Given the description of an element on the screen output the (x, y) to click on. 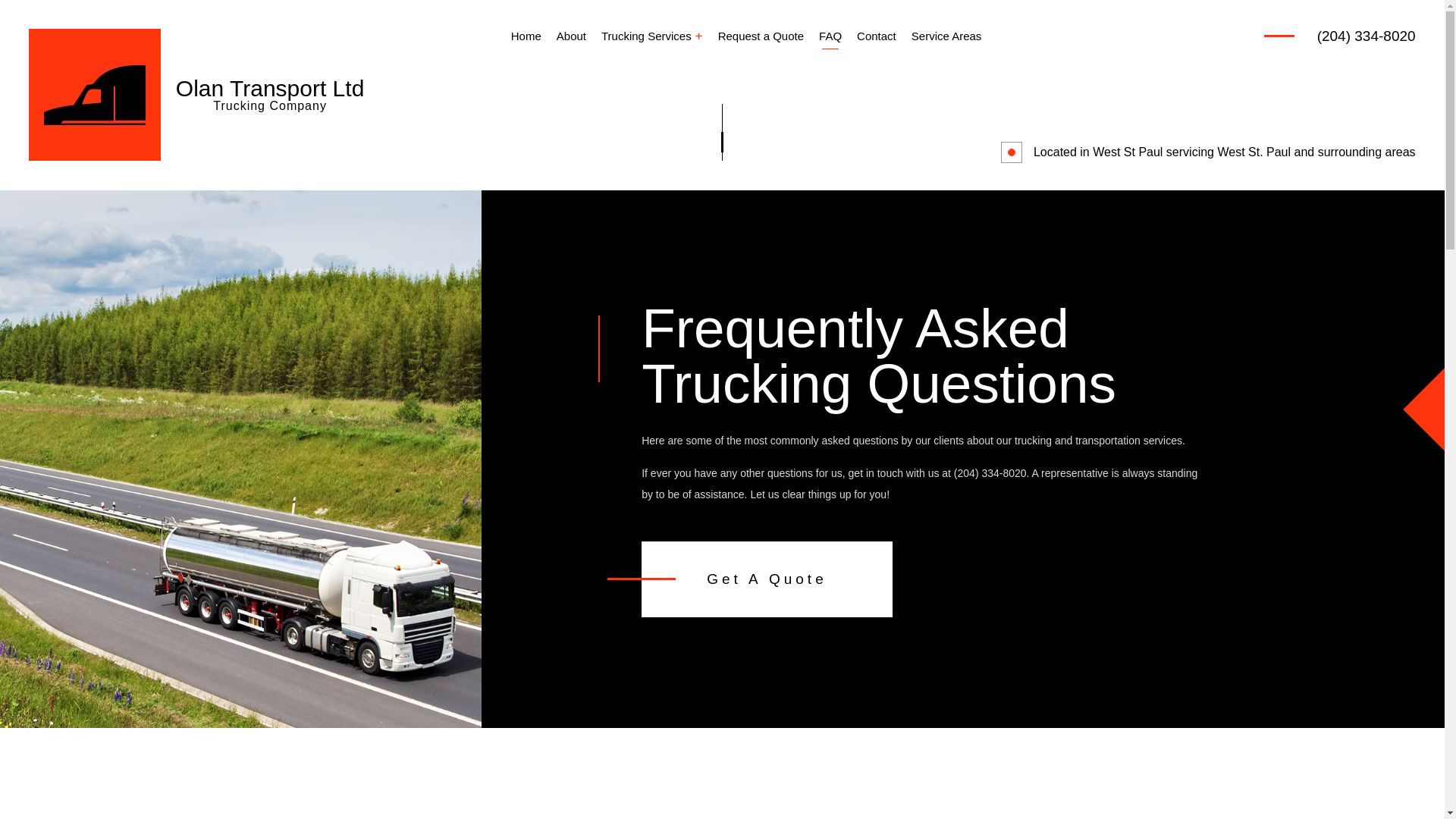
Expedited Trucking (889, 115)
Bulk Liquid Transport (889, 89)
Home (525, 35)
About (571, 35)
Freight Transportation (889, 141)
Freight Forwarder (663, 141)
Dry Van Trucking (663, 115)
Trucking Services (652, 35)
Auto Transport (663, 89)
Hotshot Trucking Services (663, 168)
Olan Transport Ltd (270, 87)
